Given the description of an element on the screen output the (x, y) to click on. 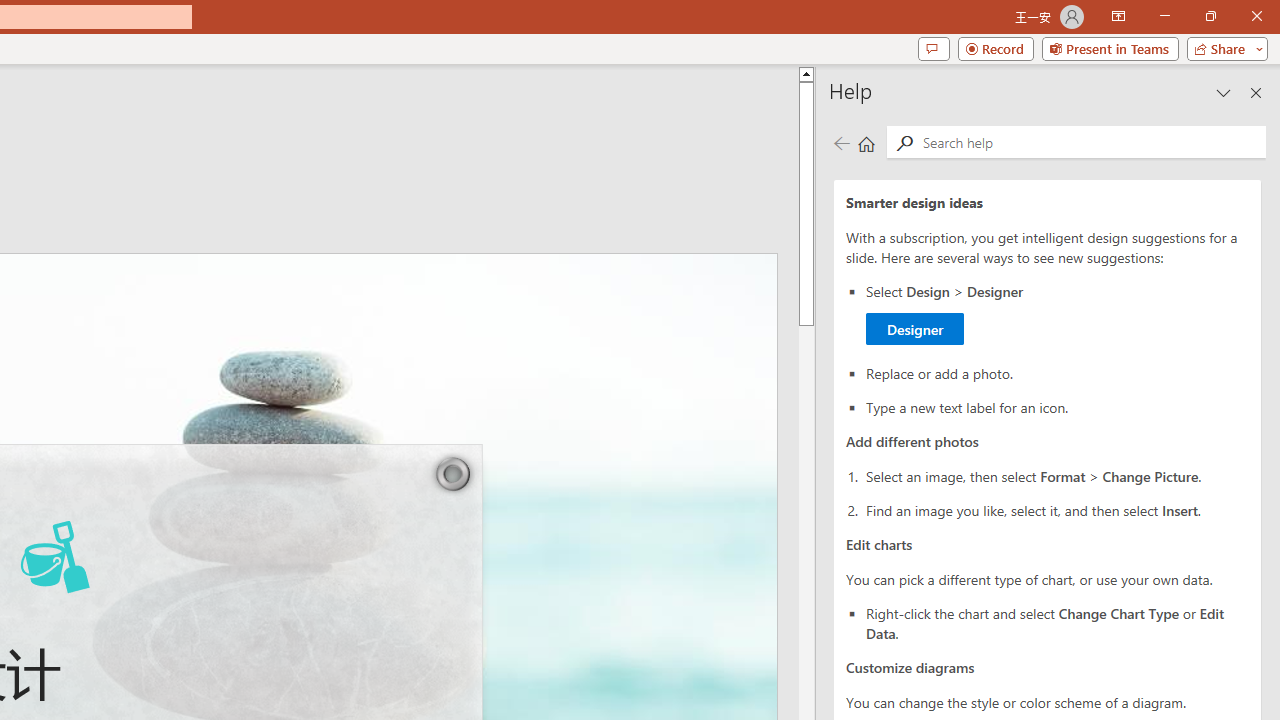
Select an image, then select Format > Change Picture. (1057, 475)
Type a new text label for an icon. (1057, 406)
Previous page (841, 143)
Close pane (1256, 92)
Designer (914, 328)
Task Pane Options (1224, 92)
Search (904, 143)
